Given the description of an element on the screen output the (x, y) to click on. 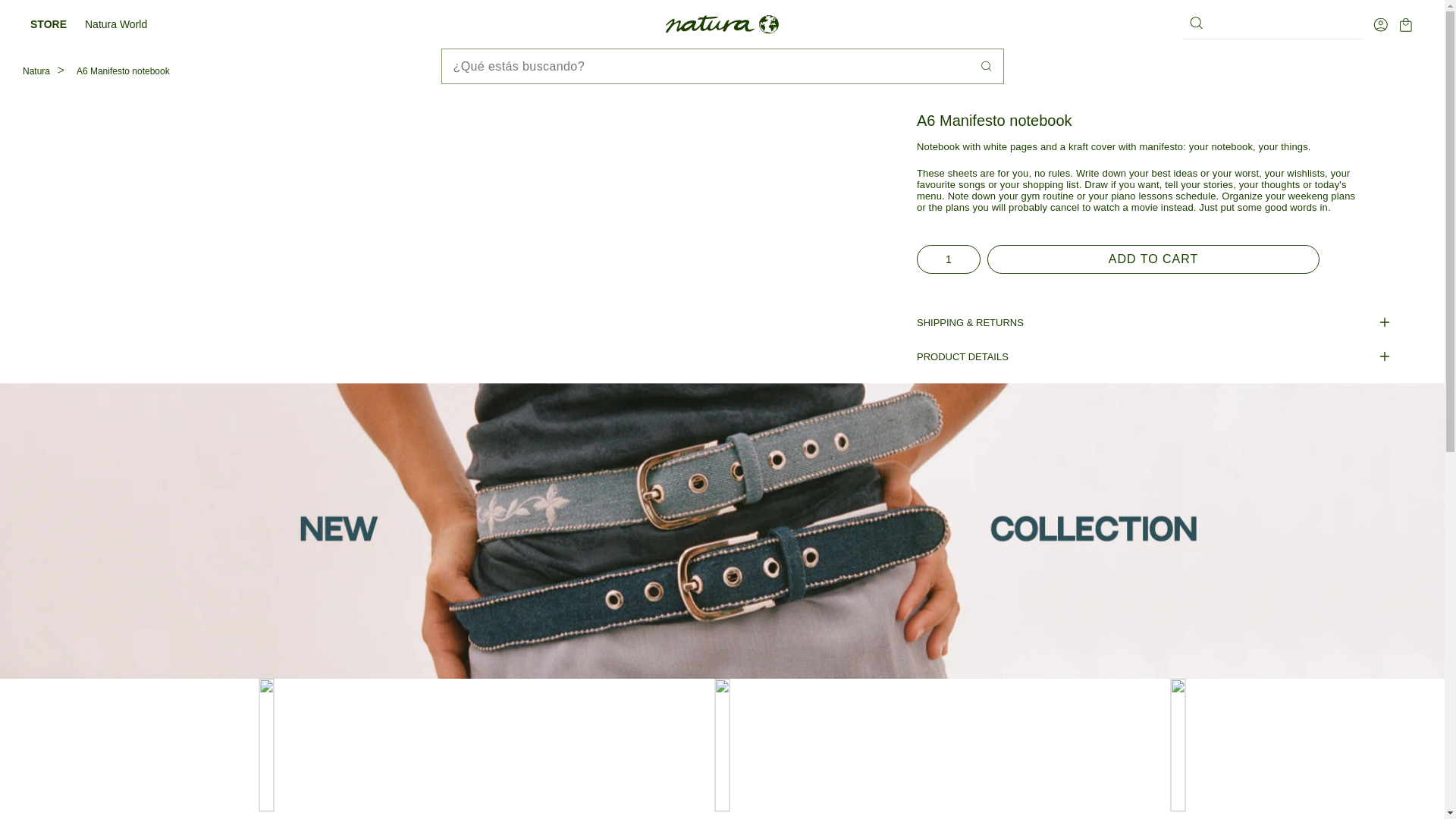
1 (948, 258)
Skip to content (45, 16)
